Given the description of an element on the screen output the (x, y) to click on. 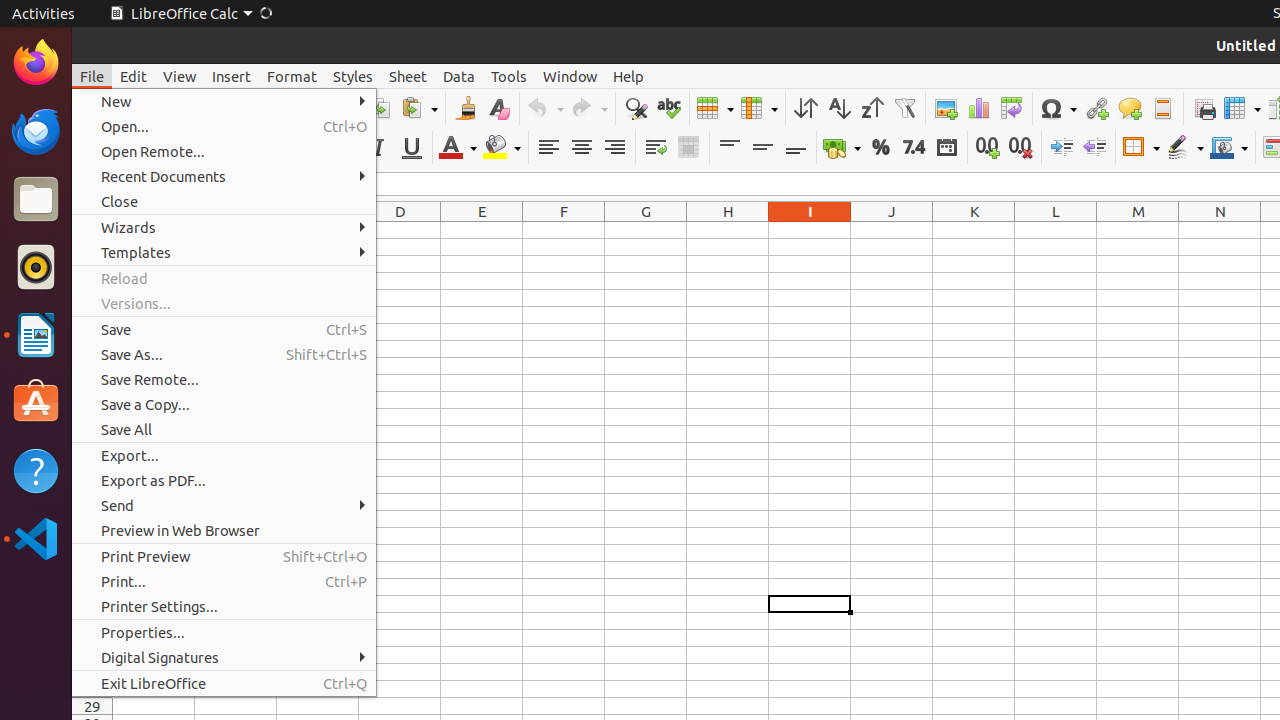
Save All Element type: menu-item (224, 429)
Clear Element type: push-button (498, 108)
Sort Ascending Element type: push-button (838, 108)
Add Decimal Place Element type: push-button (987, 147)
Wizards Element type: menu (224, 227)
